Given the description of an element on the screen output the (x, y) to click on. 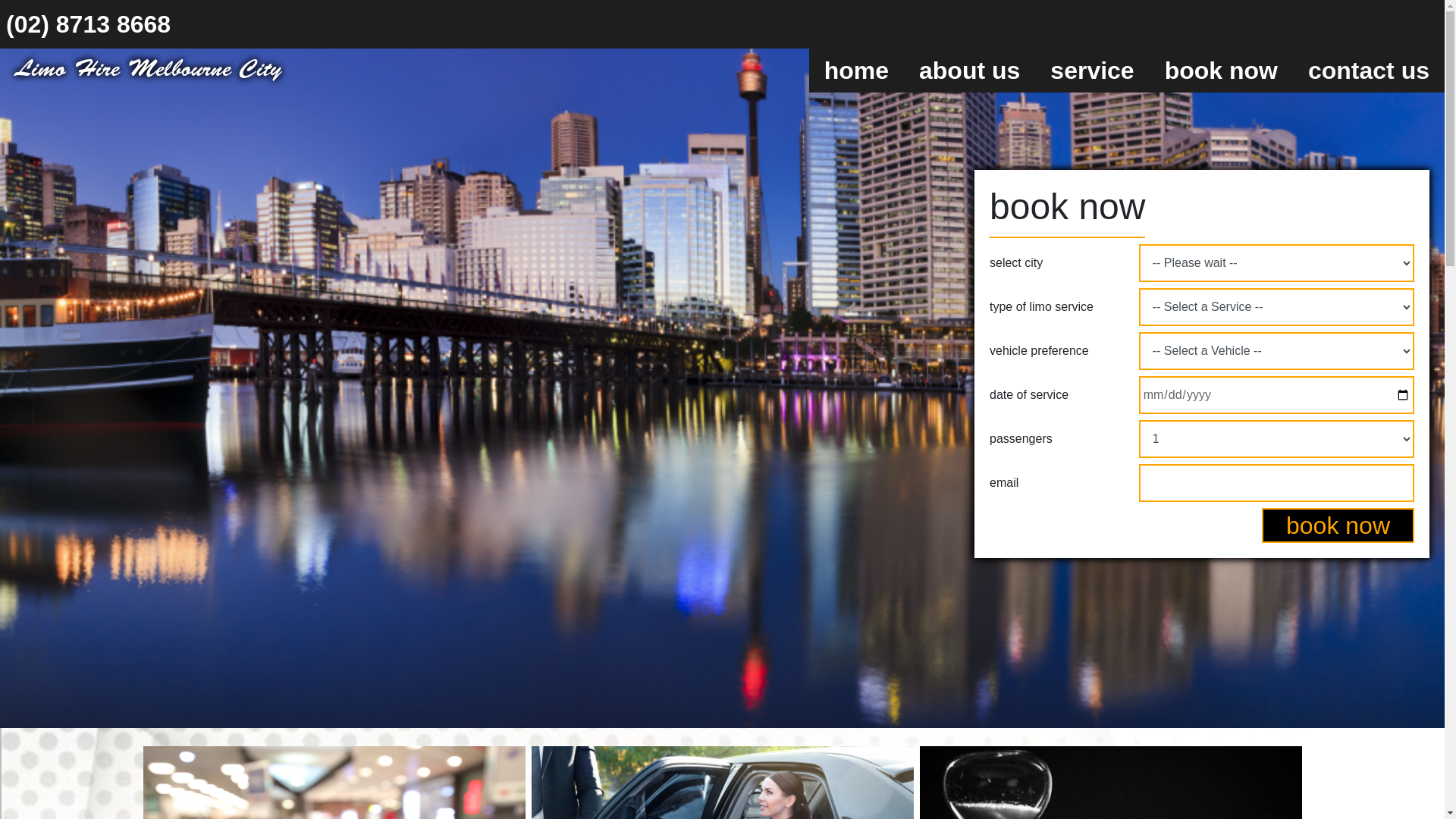
contact us Element type: text (1368, 70)
book now Element type: text (1337, 525)
about us Element type: text (969, 70)
home Element type: text (856, 70)
(02) 8713 8668 Element type: text (88, 23)
service Element type: text (1091, 70)
book now Element type: text (1220, 70)
